Given the description of an element on the screen output the (x, y) to click on. 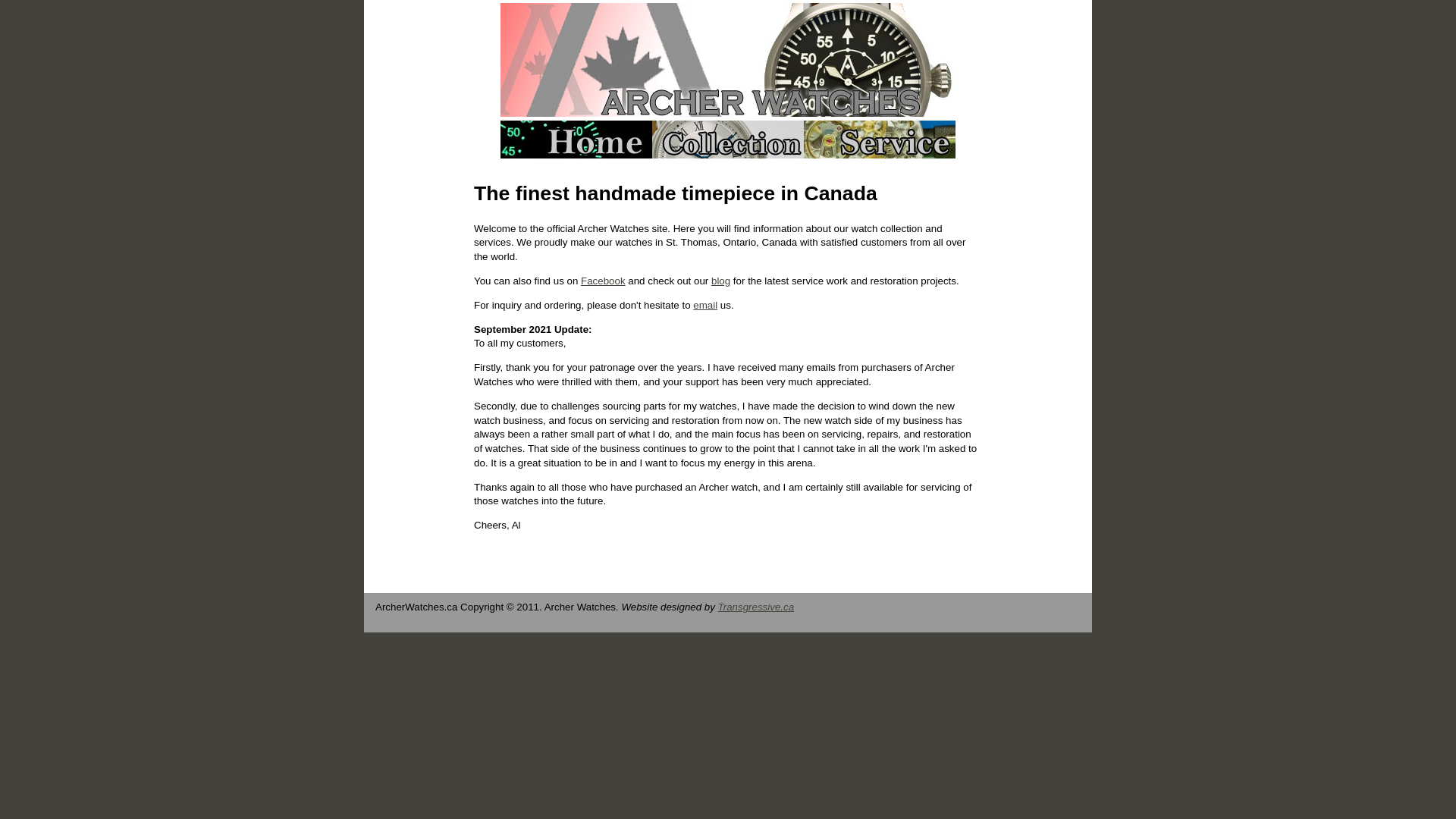
email Element type: text (705, 304)
Transgressive.ca Element type: text (756, 606)
Facebook Element type: text (602, 280)
blog Element type: text (720, 280)
